Given the description of an element on the screen output the (x, y) to click on. 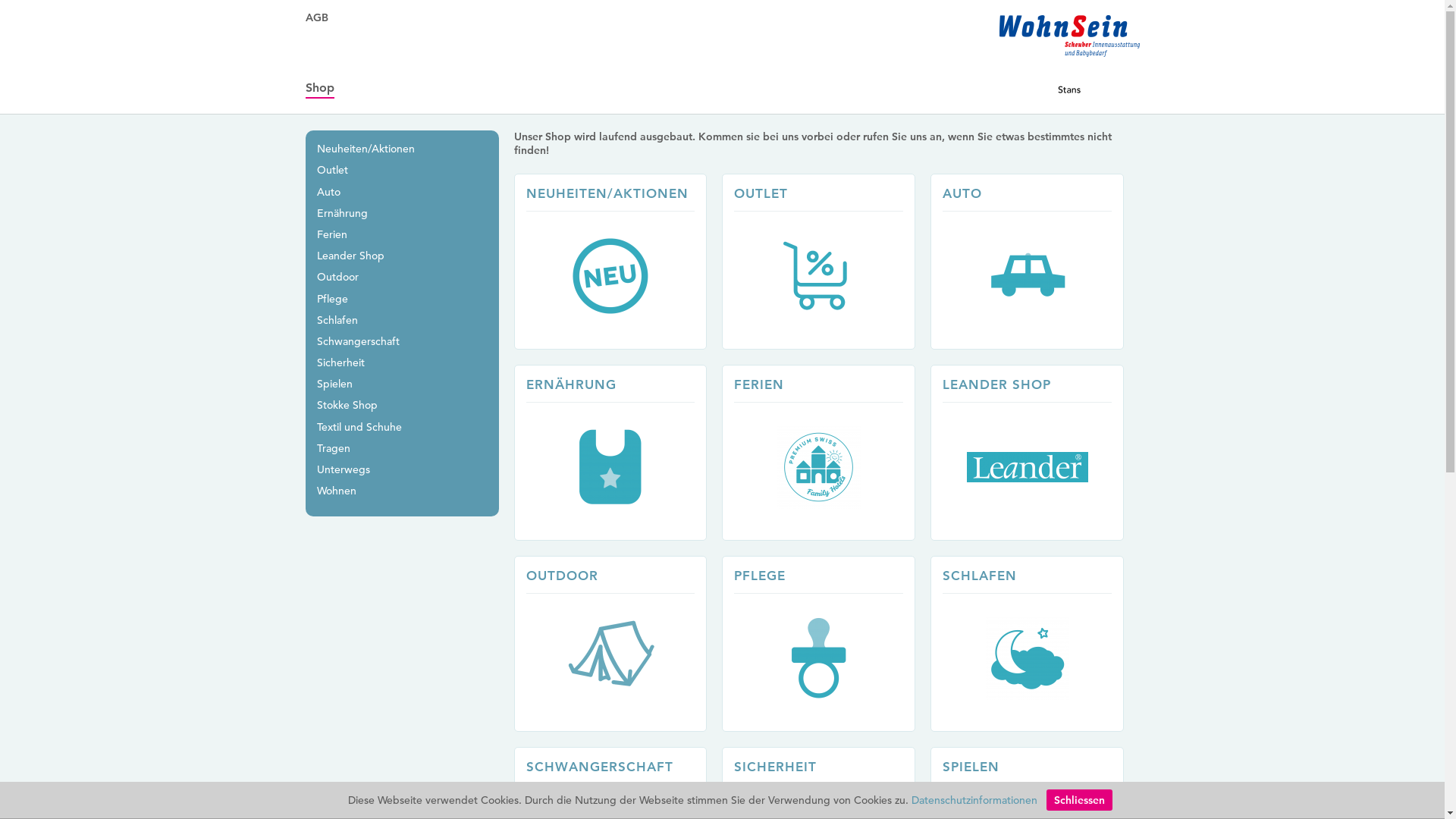
OUTLET Element type: text (825, 261)
Sicherheit Element type: text (340, 362)
NEUHEITEN/AKTIONEN Element type: text (607, 192)
SICHERHEIT Element type: text (775, 766)
Tragen Element type: text (333, 448)
LEANDER SHOP Element type: text (996, 384)
AGB Element type: text (315, 17)
OUTLET Element type: text (760, 192)
Datenschutzinformationen Element type: text (974, 799)
Schlafen Element type: text (336, 319)
SCHWANGERSCHAFT Element type: text (599, 766)
Outdoor Element type: text (337, 276)
FERIEN Element type: text (825, 452)
Schliessen Element type: text (1079, 799)
Outlet Element type: text (332, 169)
Pflege Element type: text (332, 297)
Ferien Element type: text (331, 234)
Schwangerschaft Element type: text (357, 341)
Leander Shop Element type: text (350, 255)
Stokke Shop Element type: text (346, 404)
NEUHEITEN/AKTIONEN Element type: text (618, 261)
AUTO Element type: text (1034, 261)
FERIEN Element type: text (759, 384)
Wohnen Element type: text (336, 490)
SPIELEN Element type: text (970, 766)
Auto Element type: text (328, 191)
SCHLAFEN Element type: text (979, 575)
PFLEGE Element type: text (759, 575)
OUTDOOR Element type: text (562, 575)
AUTO Element type: text (962, 192)
PFLEGE Element type: text (825, 643)
SCHLAFEN Element type: text (1034, 643)
Unterwegs Element type: text (343, 469)
Spielen Element type: text (334, 383)
Textil und Schuhe Element type: text (358, 426)
Neuheiten/Aktionen Element type: text (365, 148)
Zur Startseite Element type: hover (1069, 55)
OUTDOOR Element type: text (618, 643)
LEANDER SHOP Element type: text (1034, 452)
Shop Element type: text (318, 88)
